Given the description of an element on the screen output the (x, y) to click on. 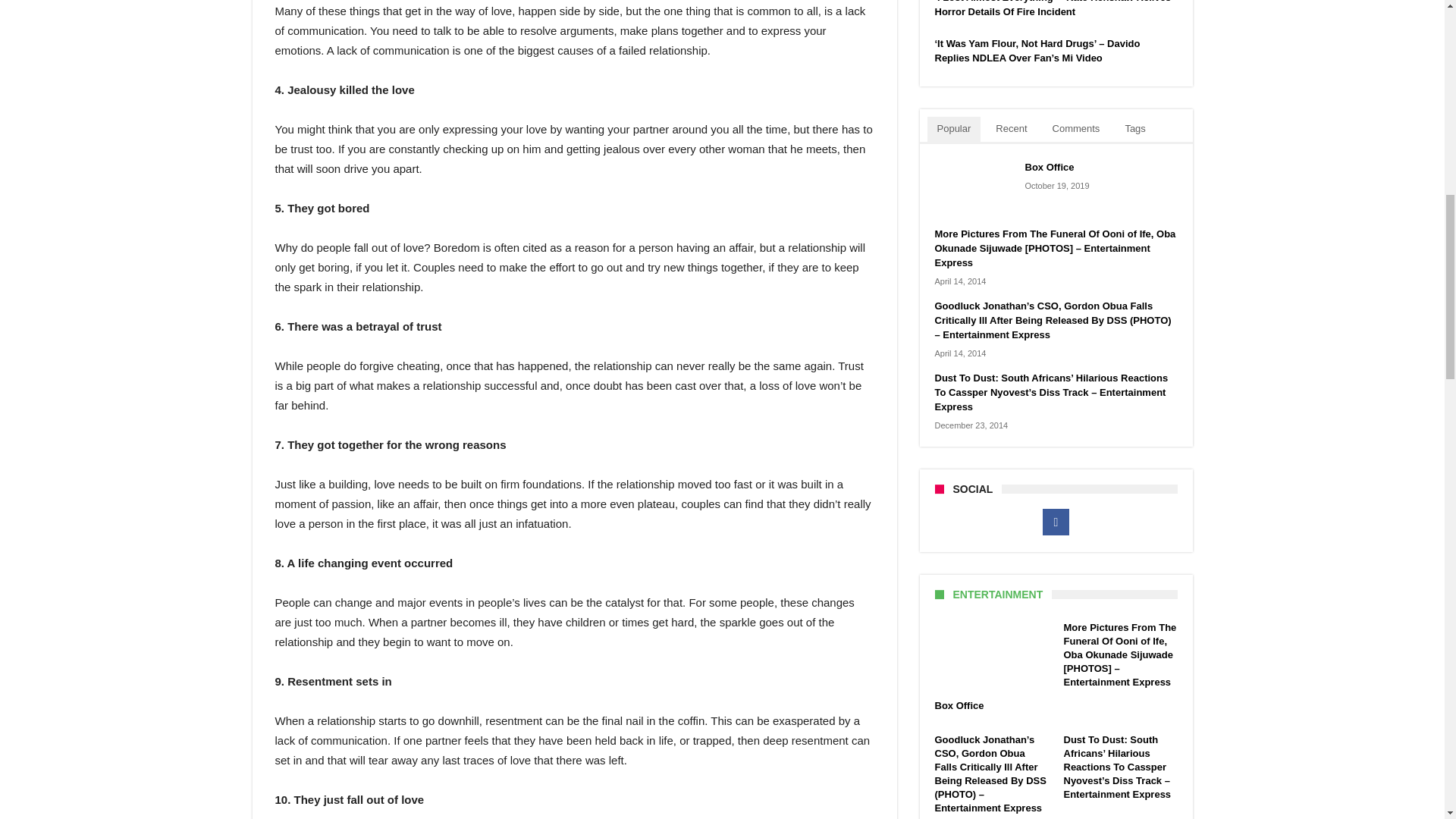
Go Top (1417, 60)
Facebook (1055, 522)
